Given the description of an element on the screen output the (x, y) to click on. 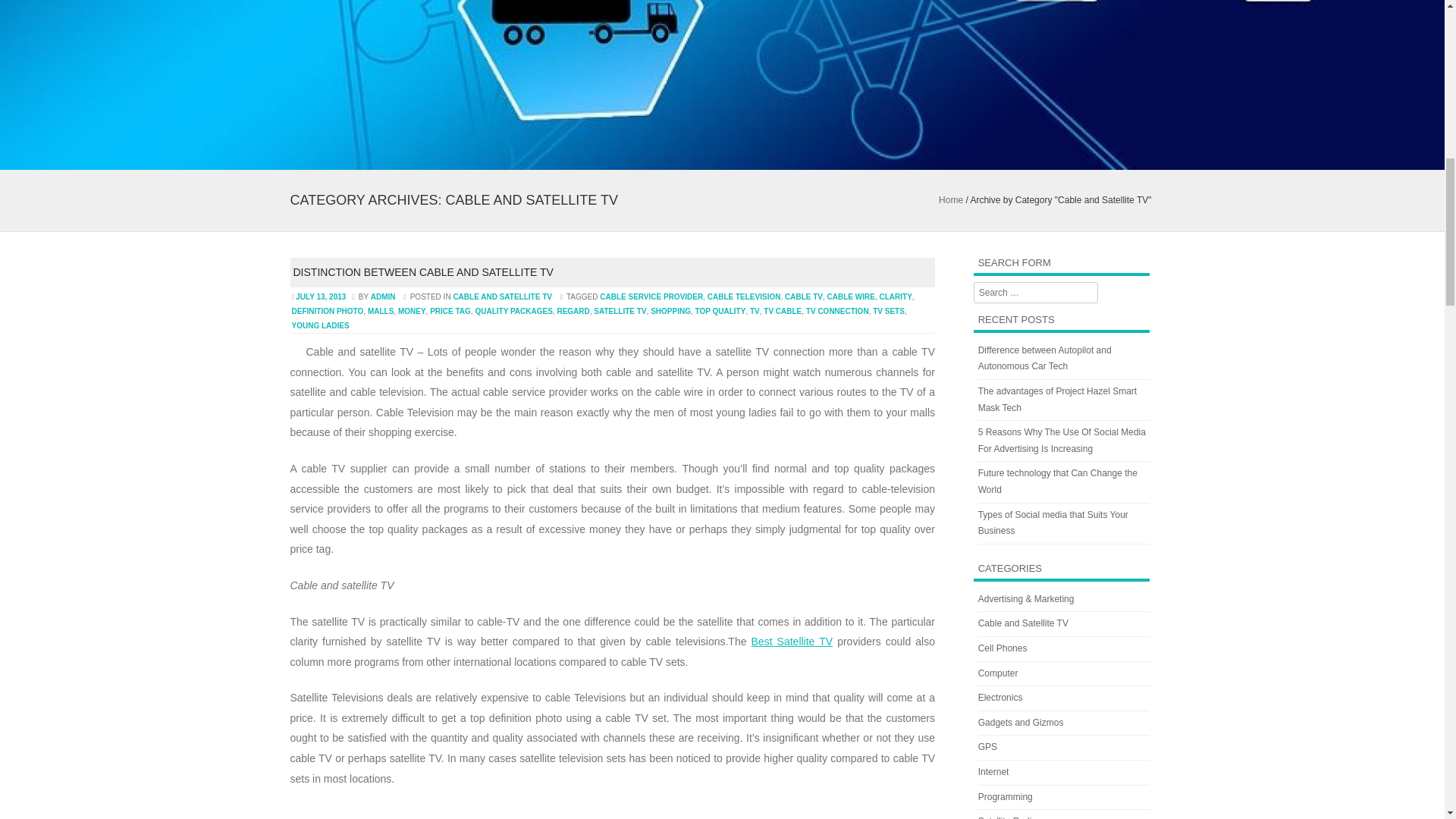
CLARITY (895, 296)
SATELLITE TV (620, 311)
TV CABLE (782, 311)
TV (754, 311)
MONEY (411, 311)
TV CONNECTION (837, 311)
CABLE WIRE (851, 296)
CABLE TELEVISION (743, 296)
MALLS (380, 311)
TOP QUALITY (719, 311)
